Given the description of an element on the screen output the (x, y) to click on. 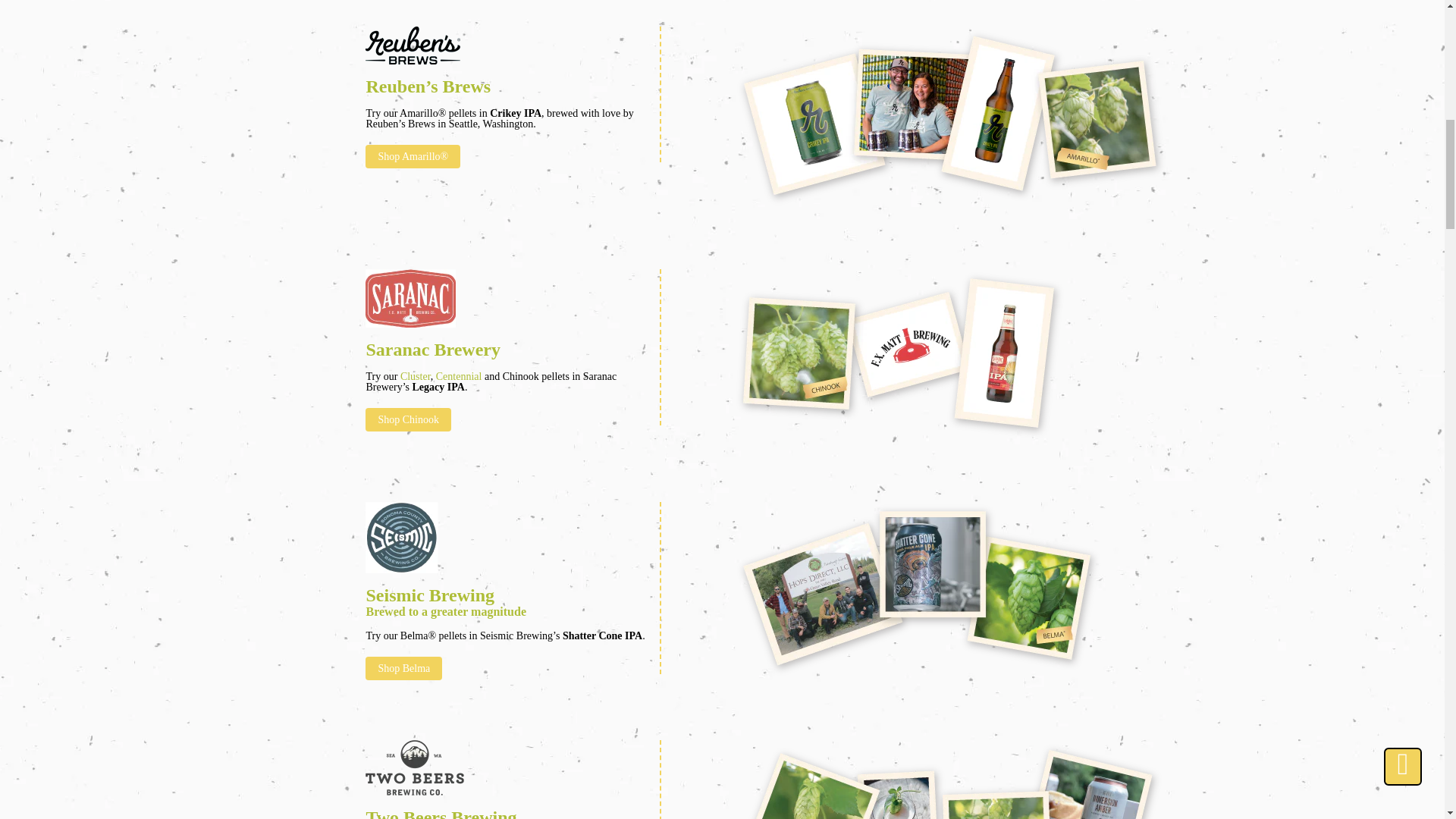
Cluster (415, 376)
